Given the description of an element on the screen output the (x, y) to click on. 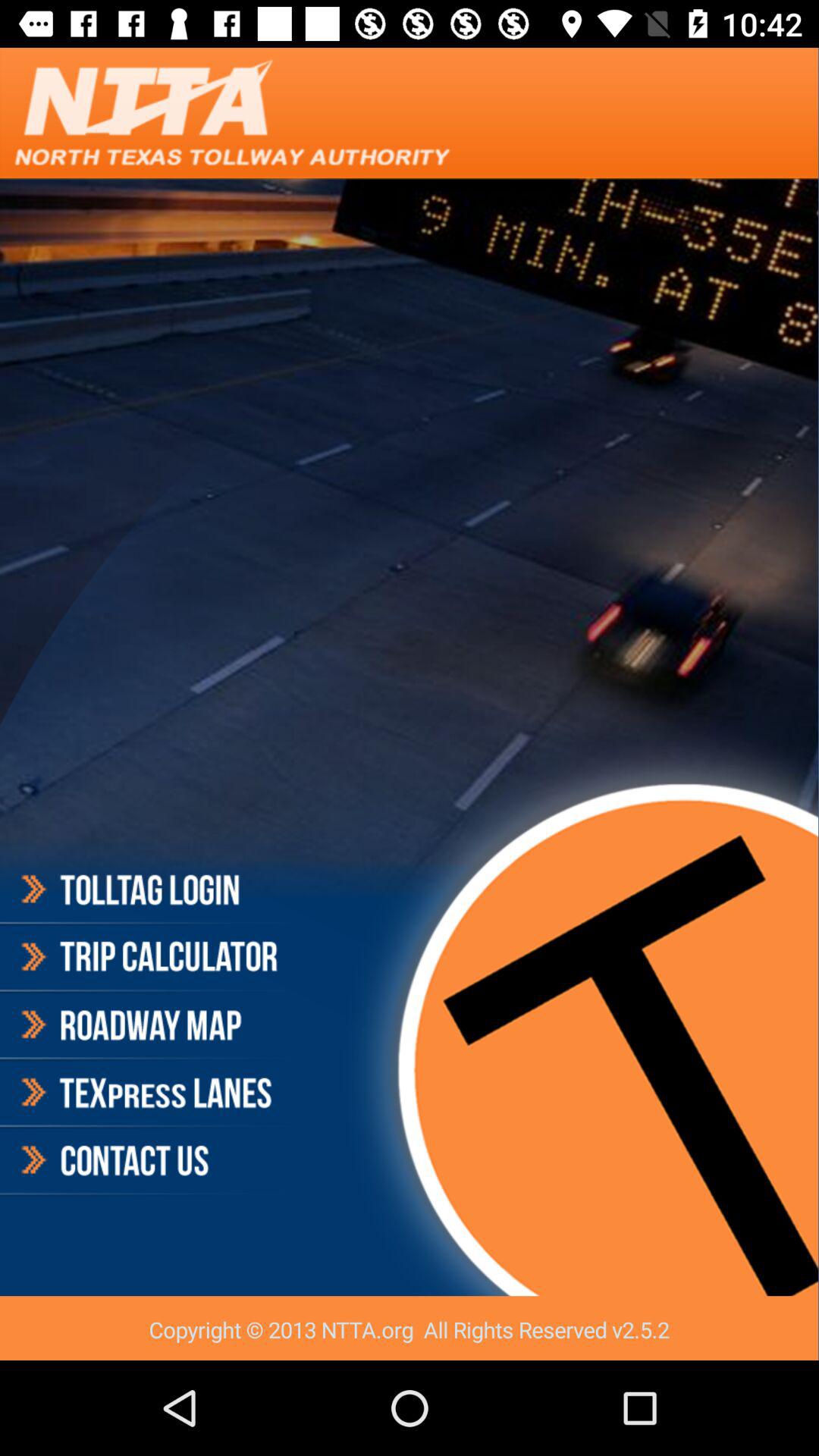
go to learn more about texpress lanes and locations (147, 1092)
